Given the description of an element on the screen output the (x, y) to click on. 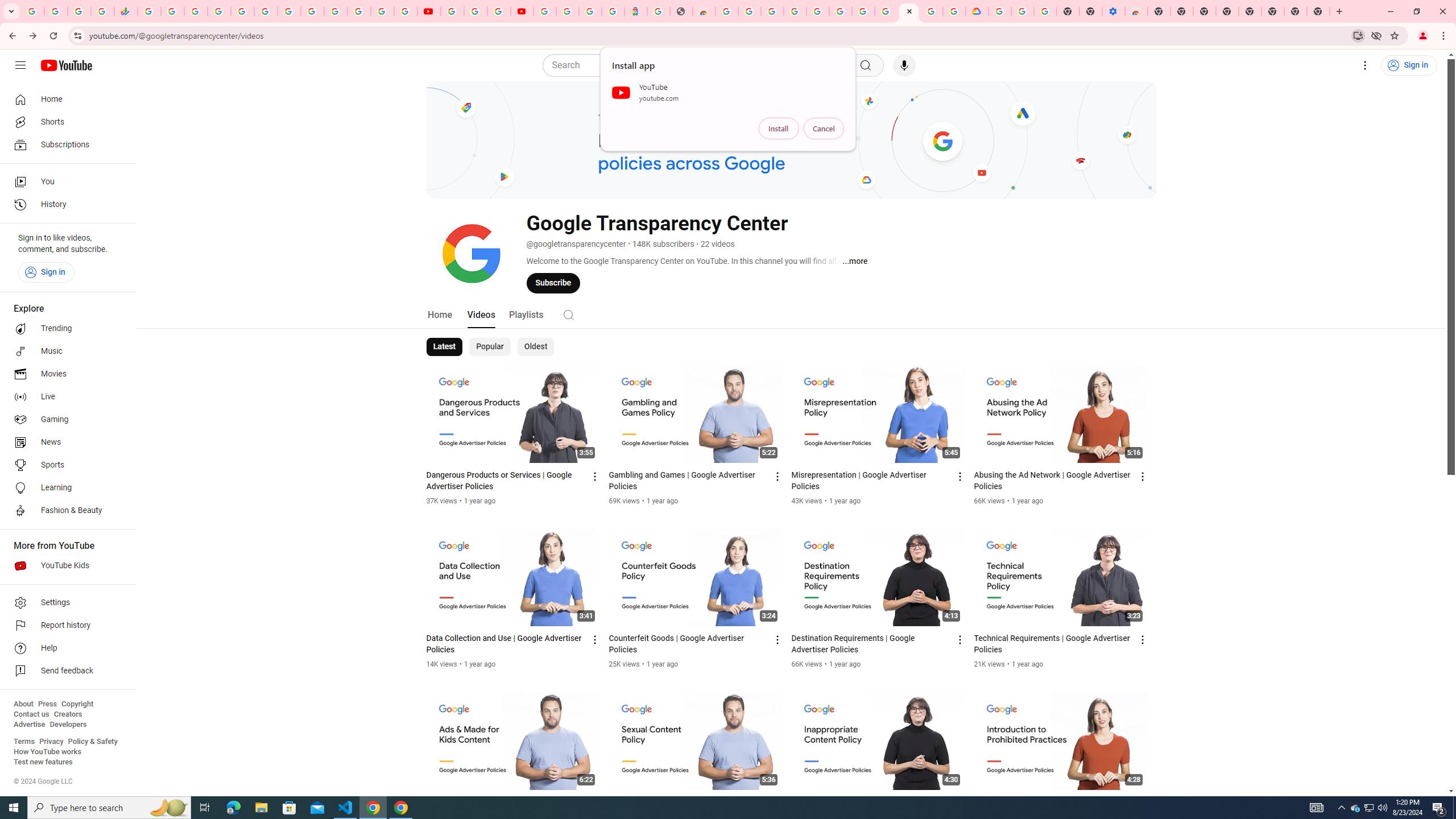
Google Account Help (475, 11)
Test new features (42, 761)
Subscribe (552, 282)
YouTube Kids (64, 565)
Cancel (823, 128)
Chrome Web Store - Household (703, 11)
Sign in - Google Accounts (567, 11)
